Given the description of an element on the screen output the (x, y) to click on. 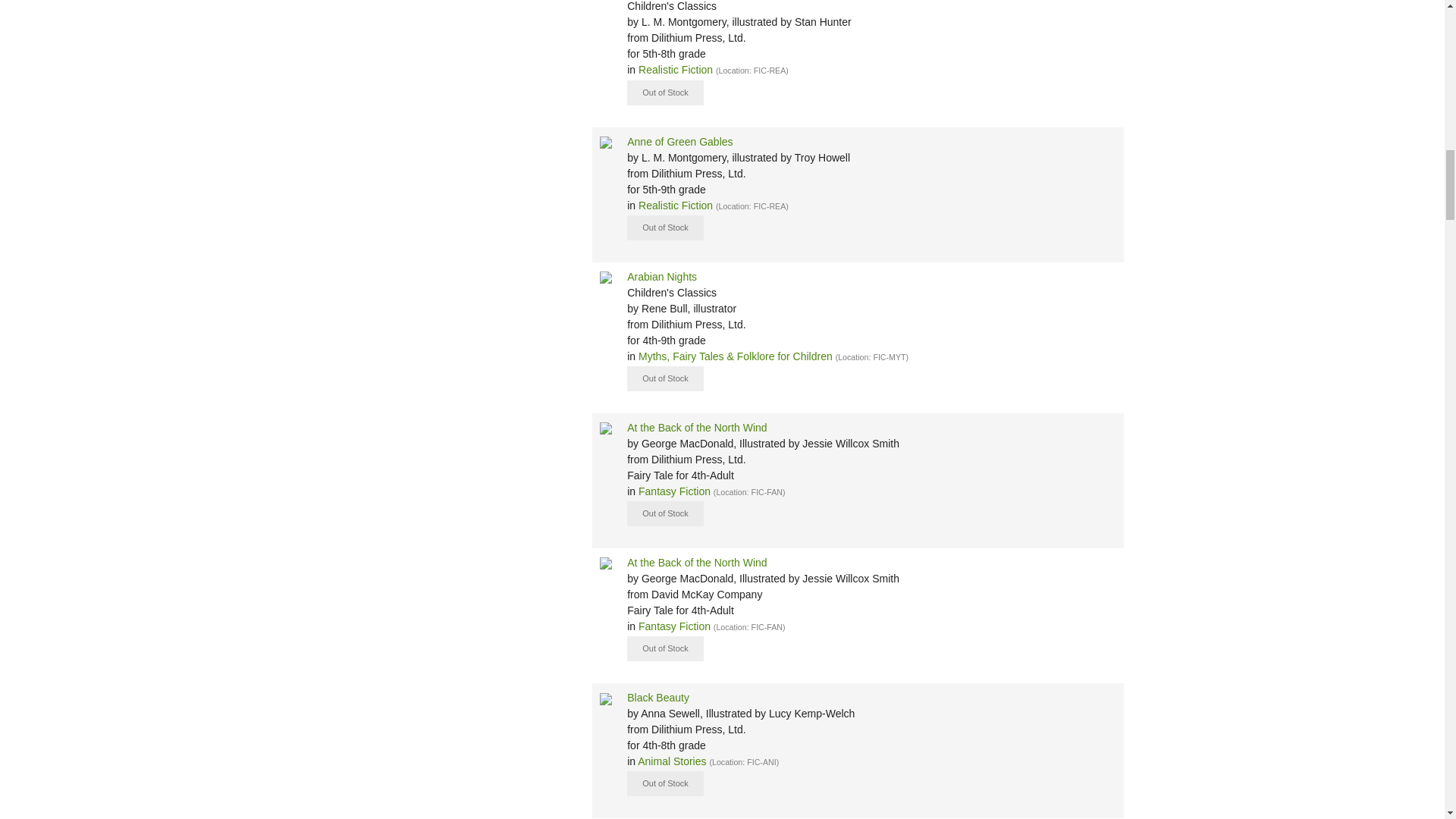
Out of Stock (665, 378)
Out of Stock (665, 648)
Out of Stock (665, 92)
Out of Stock (665, 227)
Out of Stock (665, 513)
Out of Stock (665, 783)
